Given the description of an element on the screen output the (x, y) to click on. 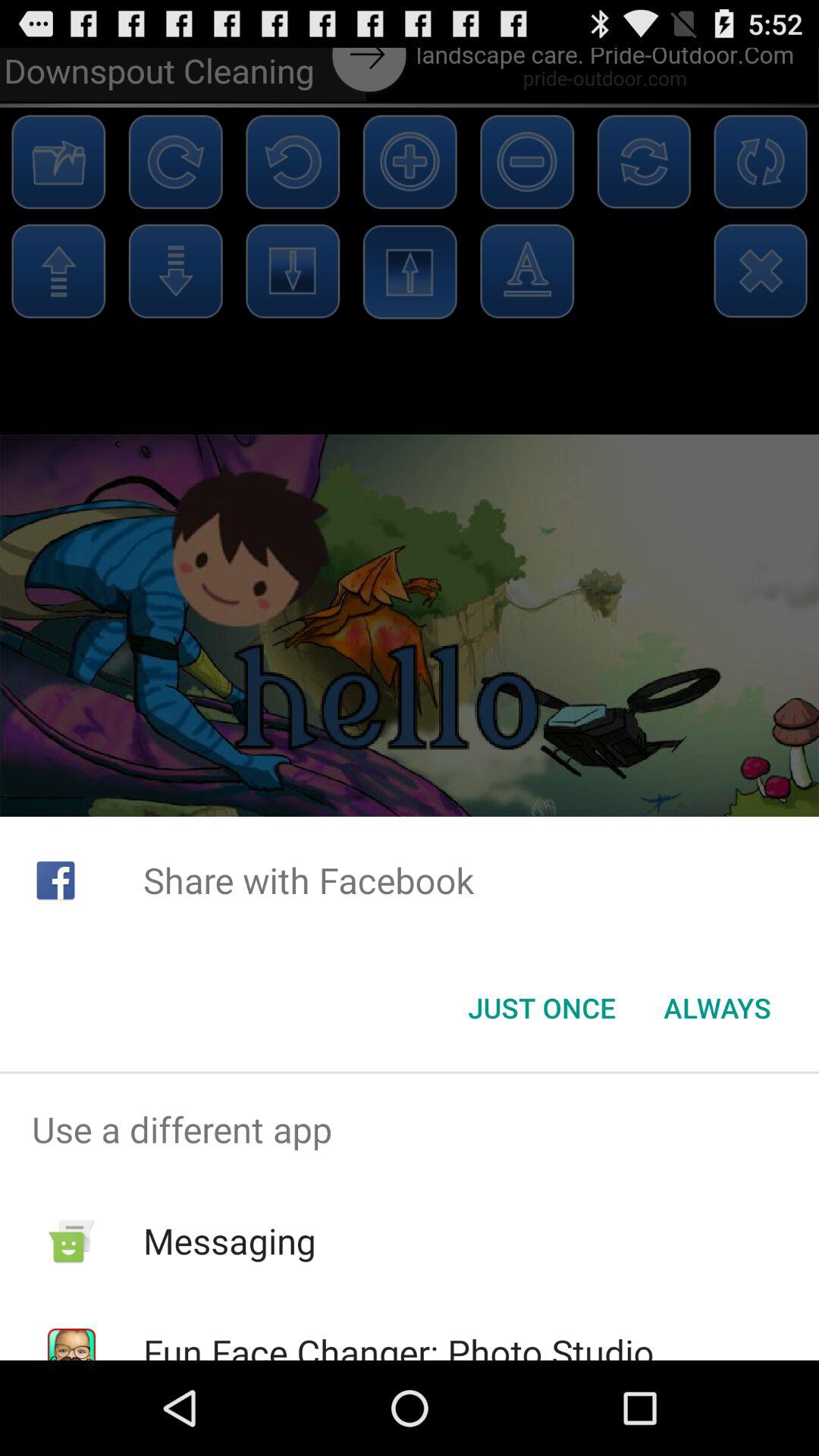
flip until always (717, 1007)
